Given the description of an element on the screen output the (x, y) to click on. 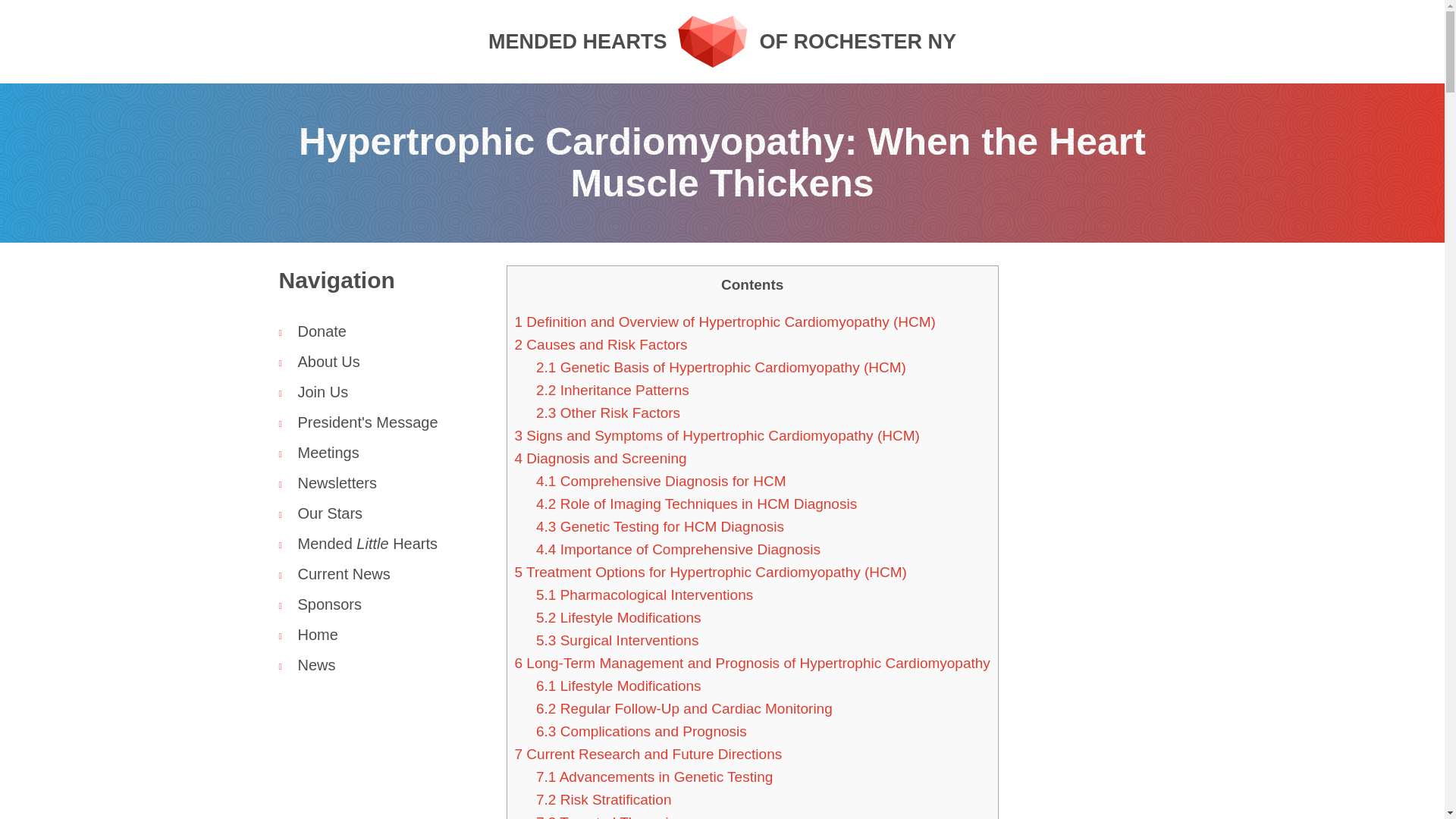
7 Current Research and Future Directions (647, 754)
7.1 Advancements in Genetic Testing (654, 776)
4.4 Importance of Comprehensive Diagnosis (678, 549)
About Us (381, 361)
President's Message (722, 41)
5.2 Lifestyle Modifications (381, 422)
Donate (618, 617)
4.1 Comprehensive Diagnosis for HCM (381, 331)
5.1 Pharmacological Interventions (660, 480)
2.2 Inheritance Patterns (643, 594)
7.2 Risk Stratification (611, 390)
6.1 Lifestyle Modifications (603, 799)
4 Diagnosis and Screening (618, 685)
